Given the description of an element on the screen output the (x, y) to click on. 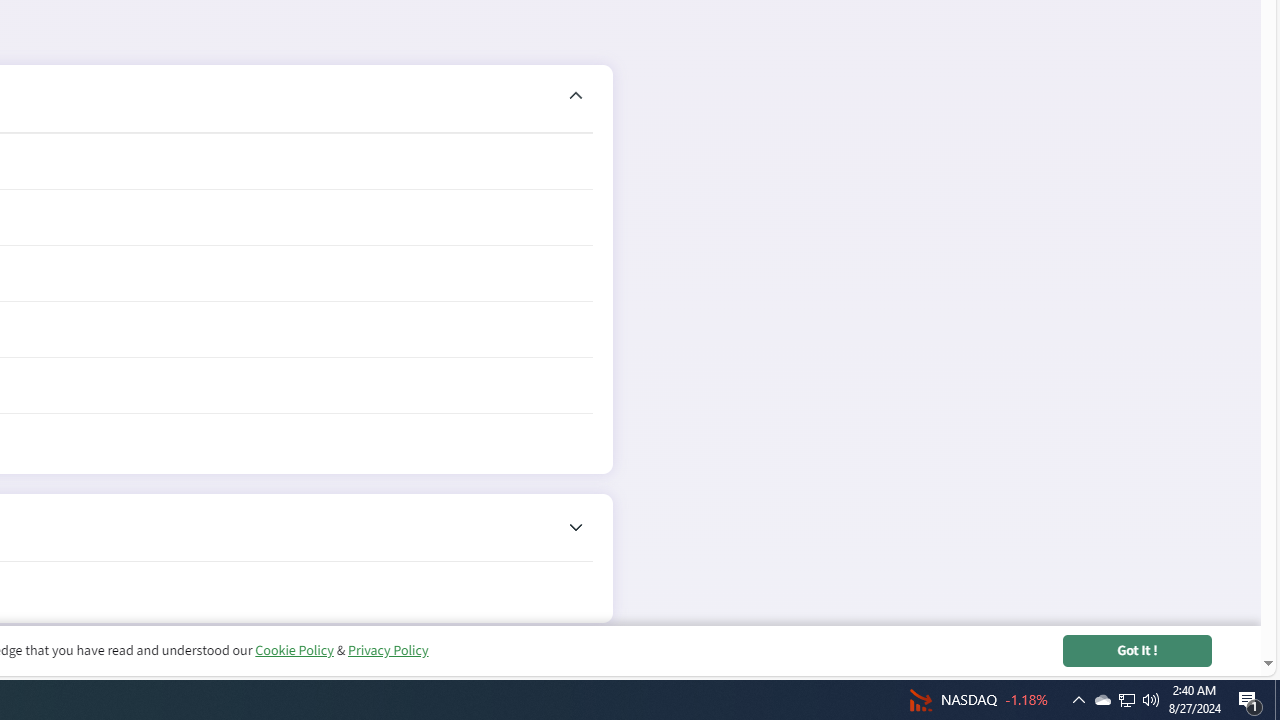
Cookie Policy (294, 650)
Privacy Policy (387, 650)
Got It ! (1137, 650)
